Given the description of an element on the screen output the (x, y) to click on. 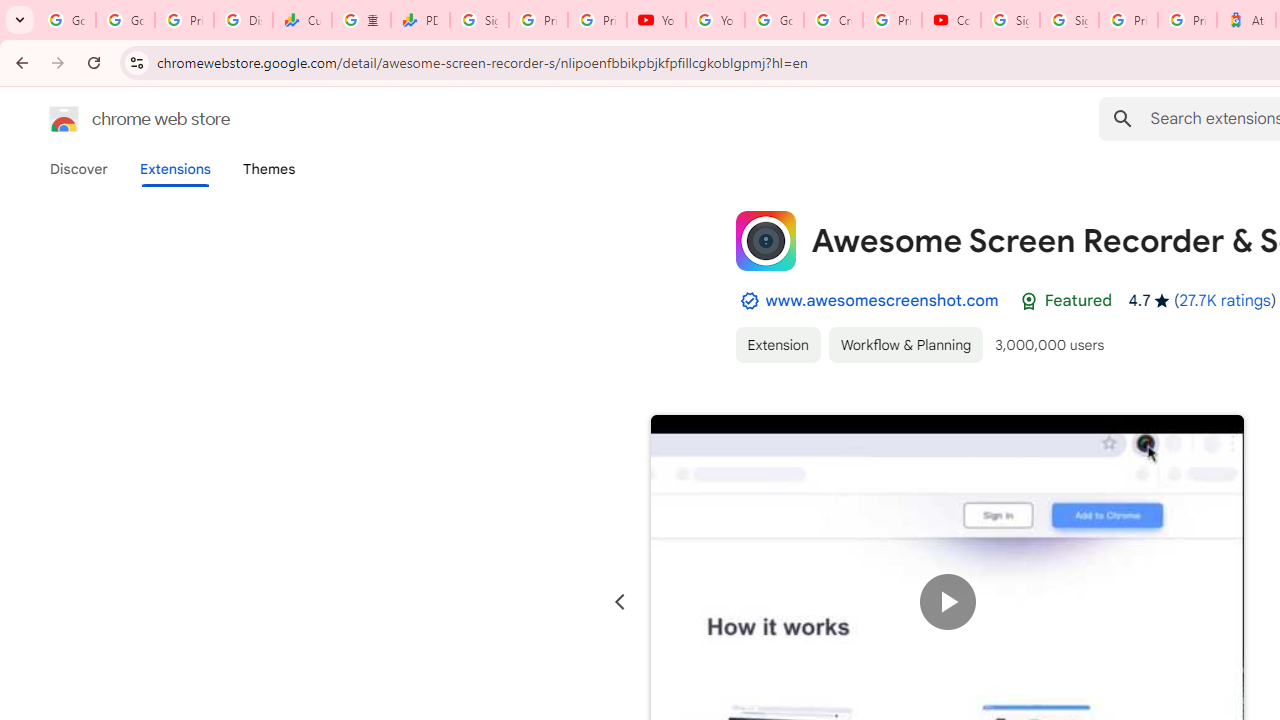
27.7K ratings (1224, 300)
Chrome Web Store logo (63, 118)
Chrome Web Store logo chrome web store (118, 118)
Sign in - Google Accounts (1010, 20)
By Established Publisher Badge (749, 301)
Currencies - Google Finance (301, 20)
Extension (777, 344)
YouTube (656, 20)
Featured Badge (1028, 301)
Extensions (174, 169)
Create your Google Account (832, 20)
